Given the description of an element on the screen output the (x, y) to click on. 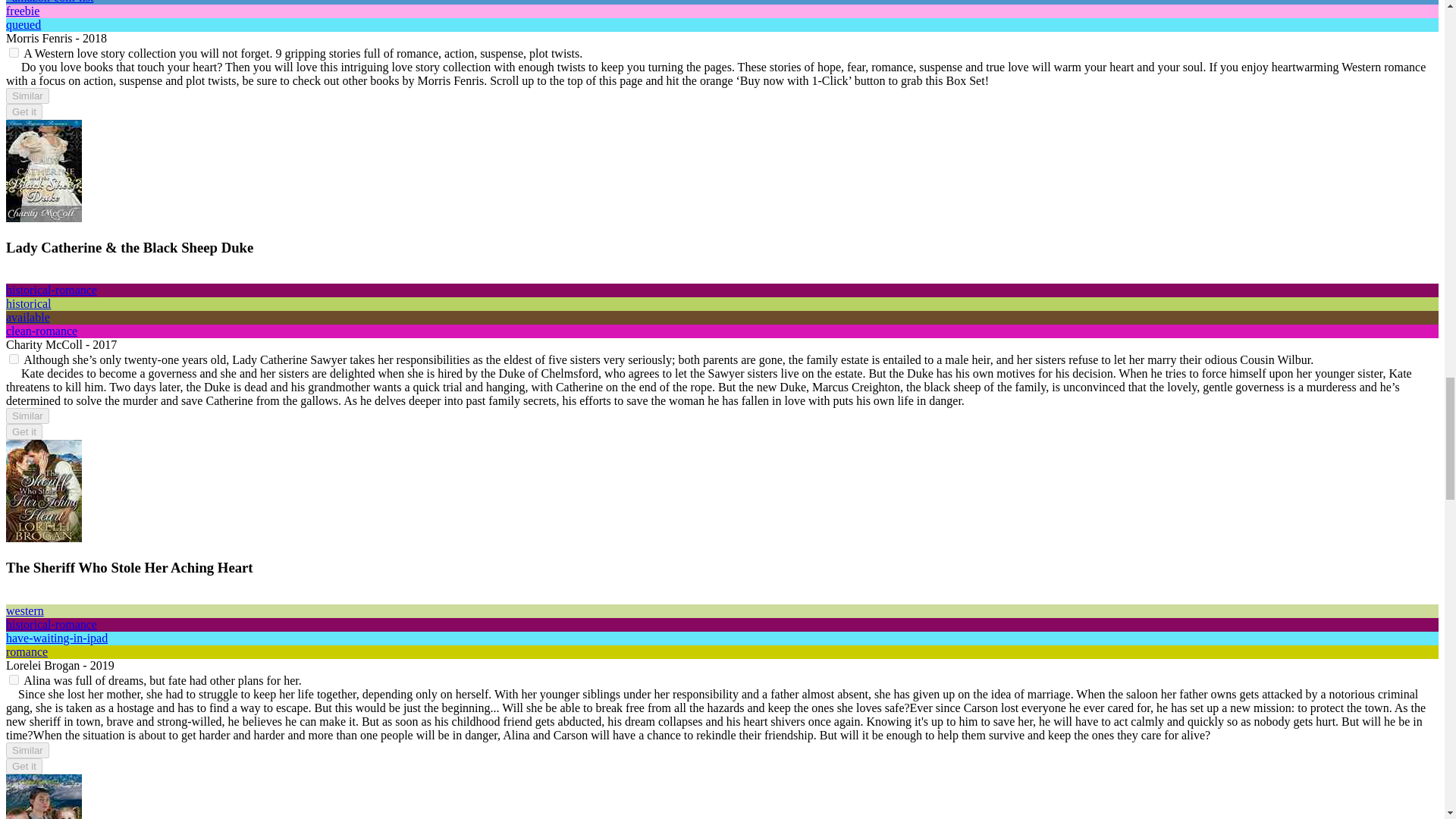
on (13, 679)
on (13, 52)
on (13, 358)
